Given the description of an element on the screen output the (x, y) to click on. 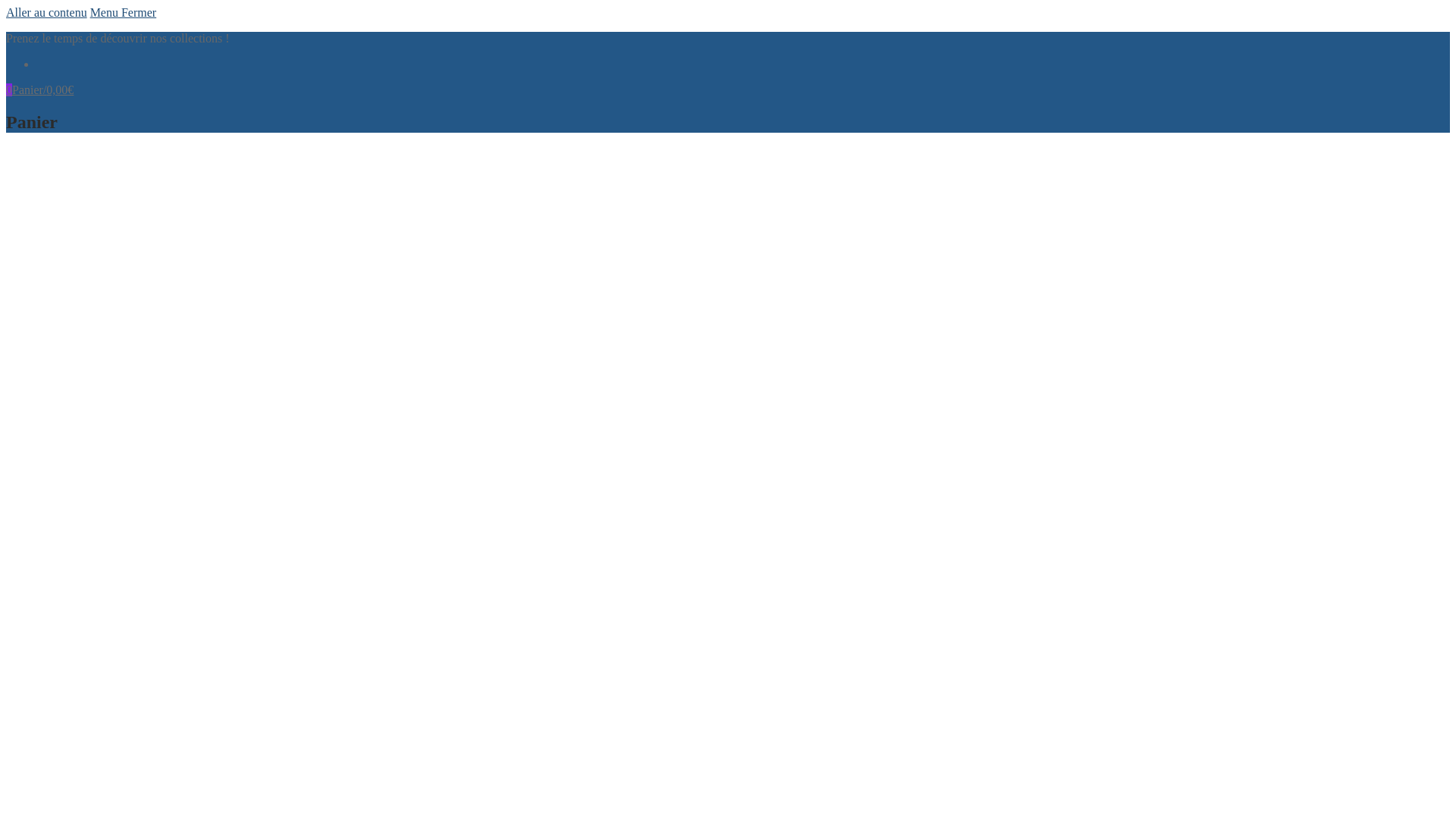
Aller au contenu Element type: text (46, 12)
Menu Fermer Element type: text (123, 12)
